Given the description of an element on the screen output the (x, y) to click on. 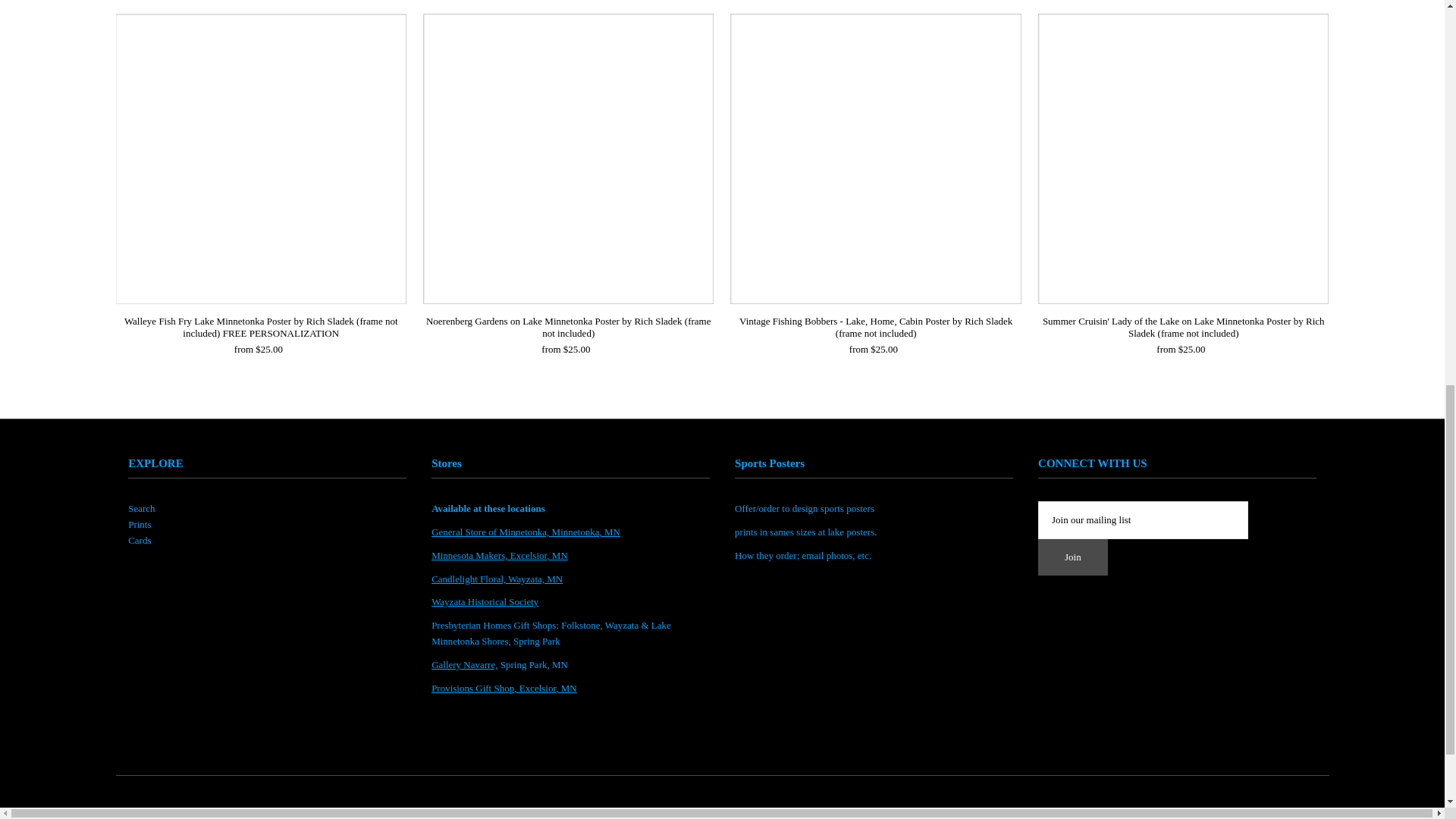
Join (1073, 556)
wayzata historical society (484, 601)
